Given the description of an element on the screen output the (x, y) to click on. 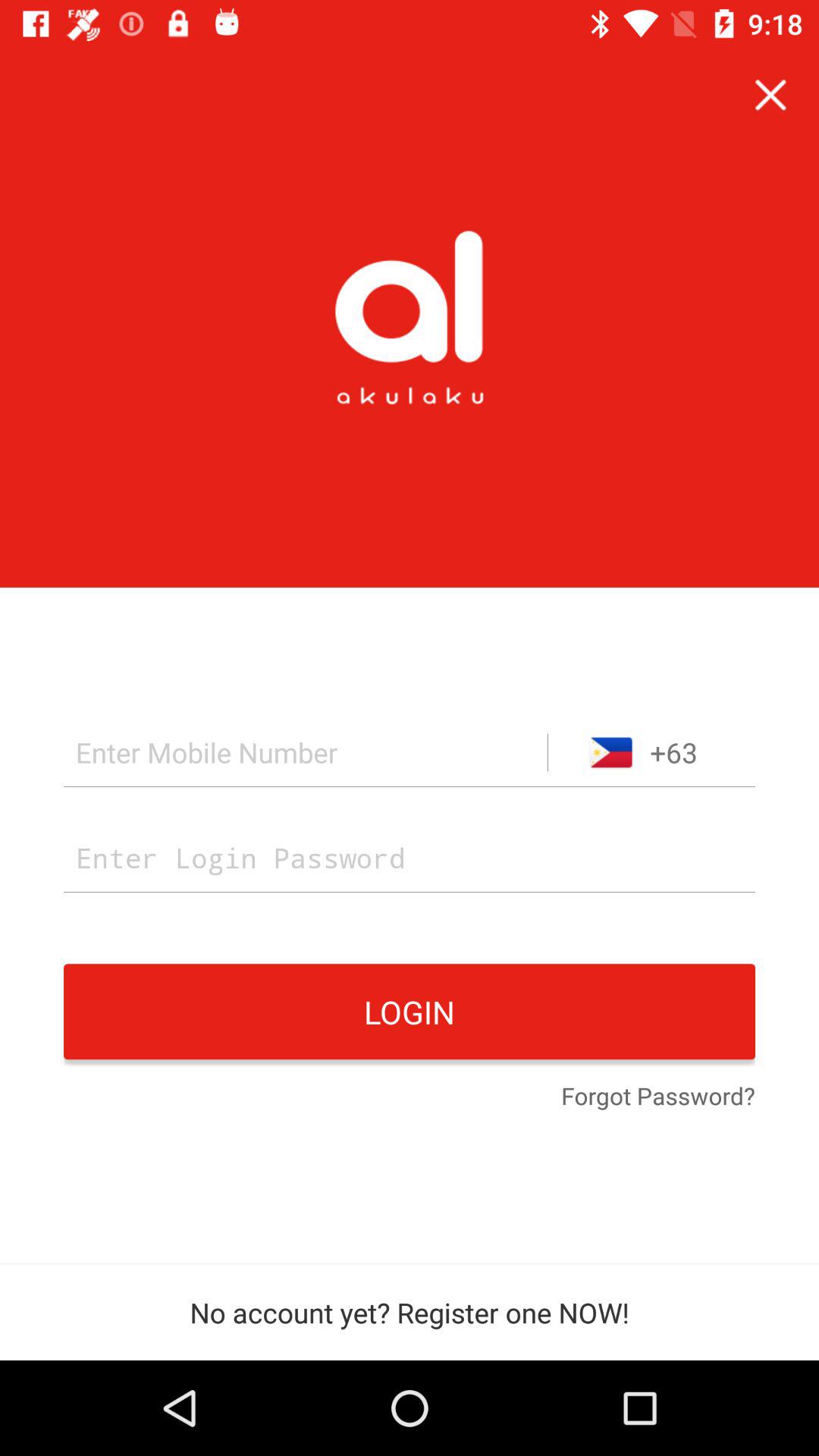
jump until +63 icon (651, 752)
